Given the description of an element on the screen output the (x, y) to click on. 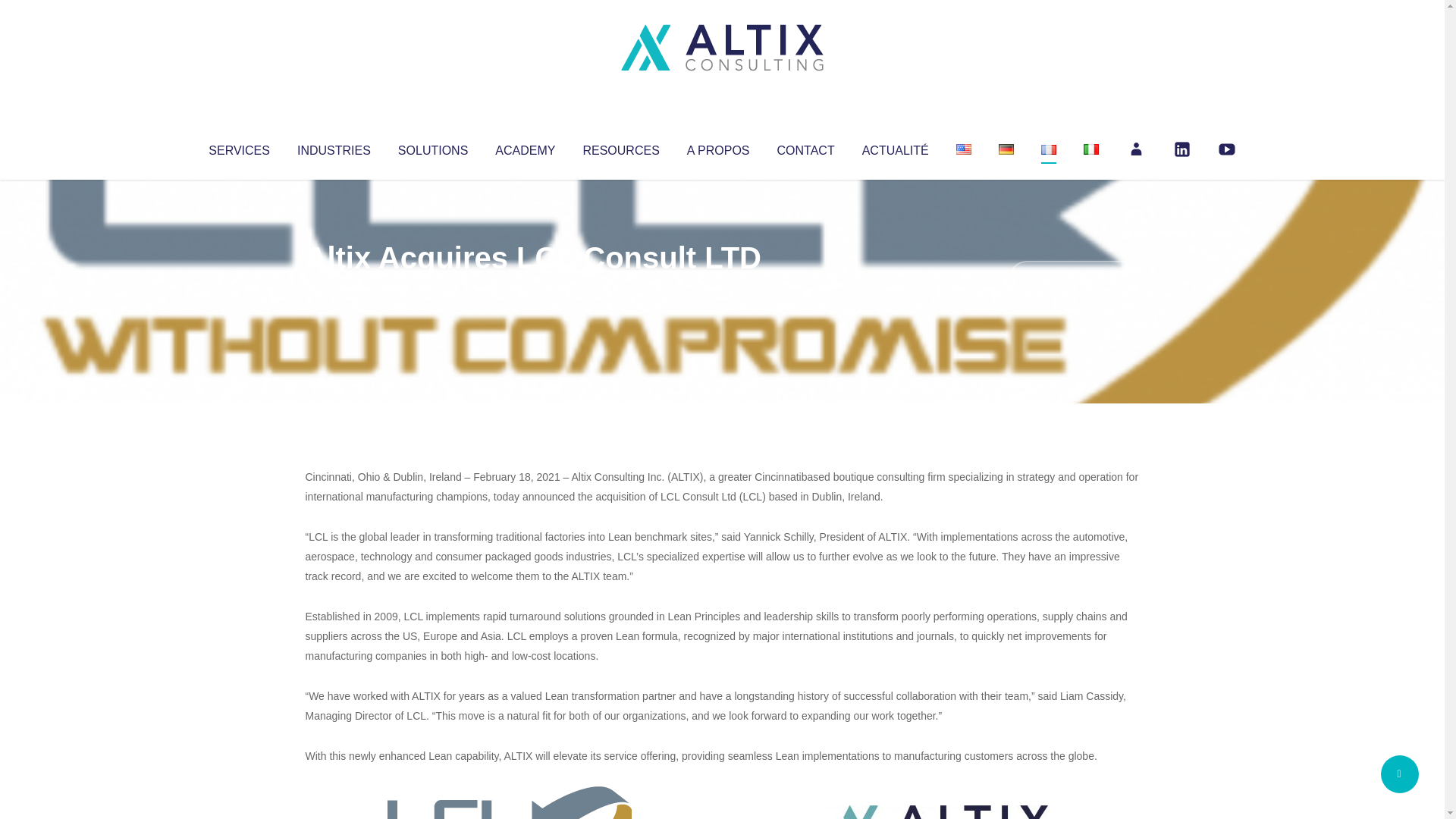
SERVICES (238, 146)
Articles par Altix (333, 287)
Uncategorized (530, 287)
RESOURCES (620, 146)
No Comments (1073, 278)
SOLUTIONS (432, 146)
ACADEMY (524, 146)
Altix (333, 287)
INDUSTRIES (334, 146)
A PROPOS (718, 146)
